Given the description of an element on the screen output the (x, y) to click on. 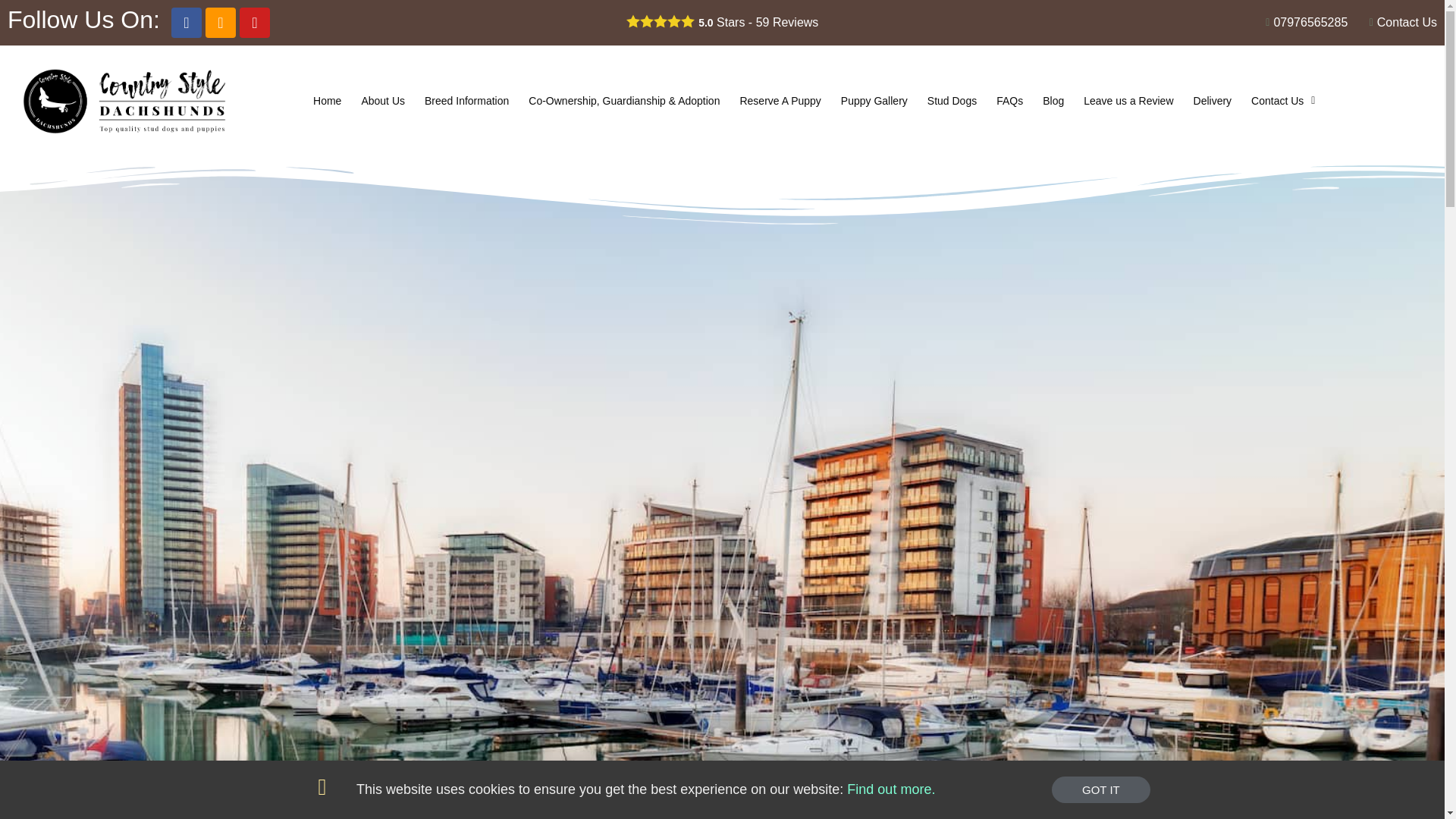
About Us (382, 100)
Home (326, 100)
Contact Us (1282, 100)
Leave us a Review (1128, 100)
Delivery (1212, 100)
Puppy Gallery (874, 100)
Reserve A Puppy (779, 100)
Blog (1053, 100)
FAQs (1009, 100)
Stud Dogs (952, 100)
